Given the description of an element on the screen output the (x, y) to click on. 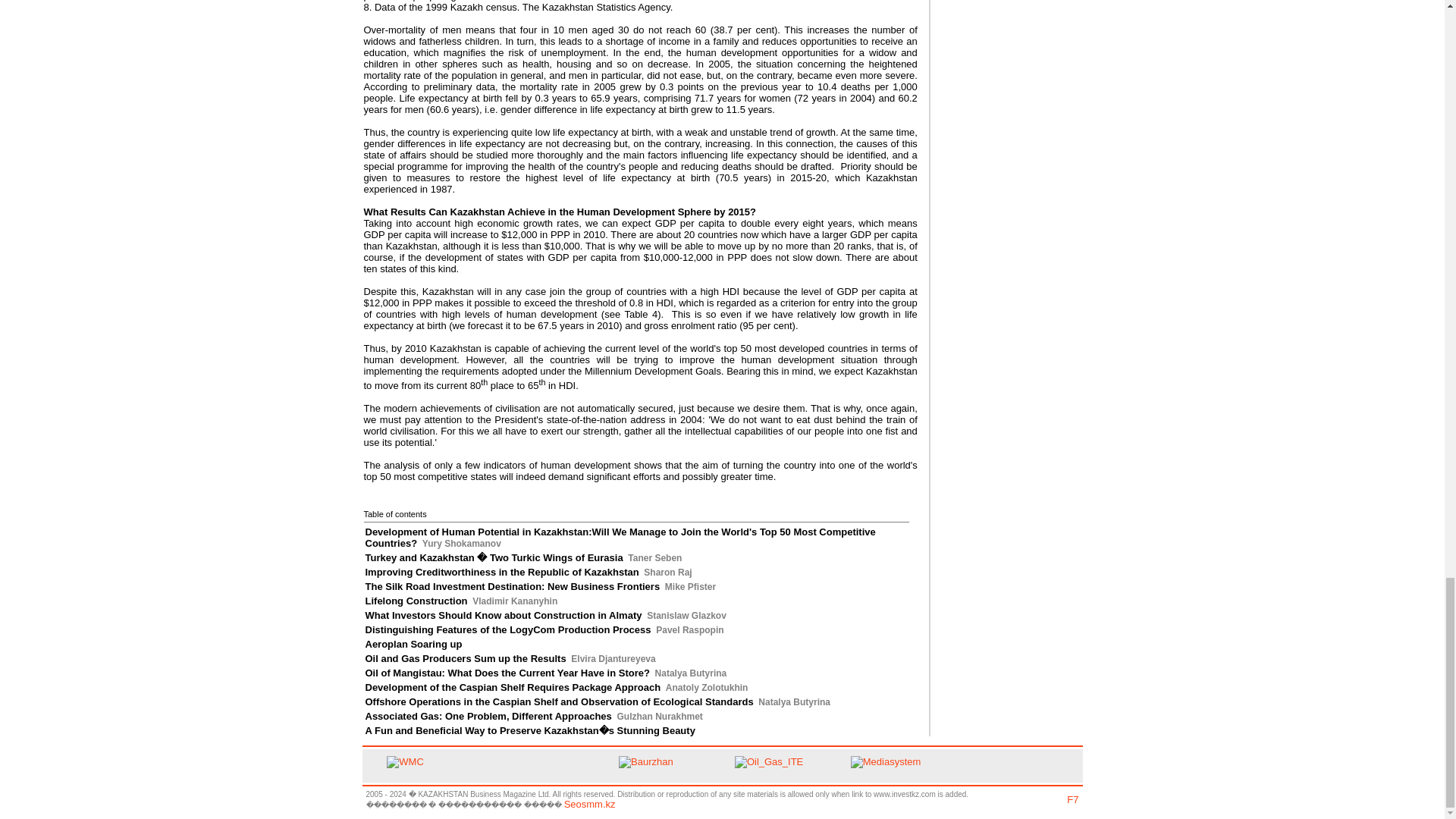
What Investors Should Know about Construction in Almaty (503, 614)
Associated Gas: One Problem, Different Approaches (488, 715)
Oil and Gas Producers Sum up the Results (465, 658)
Distinguishing Features of the LogyCom Production Process (507, 629)
The Silk Road Investment Destination: New Business Frontiers (513, 586)
Improving Creditworthiness in the Republic of Kazakhstan (502, 572)
Development of the Caspian Shelf Requires Package Approach (513, 686)
Aeroplan Soaring up (414, 644)
Lifelong Construction (416, 600)
